Given the description of an element on the screen output the (x, y) to click on. 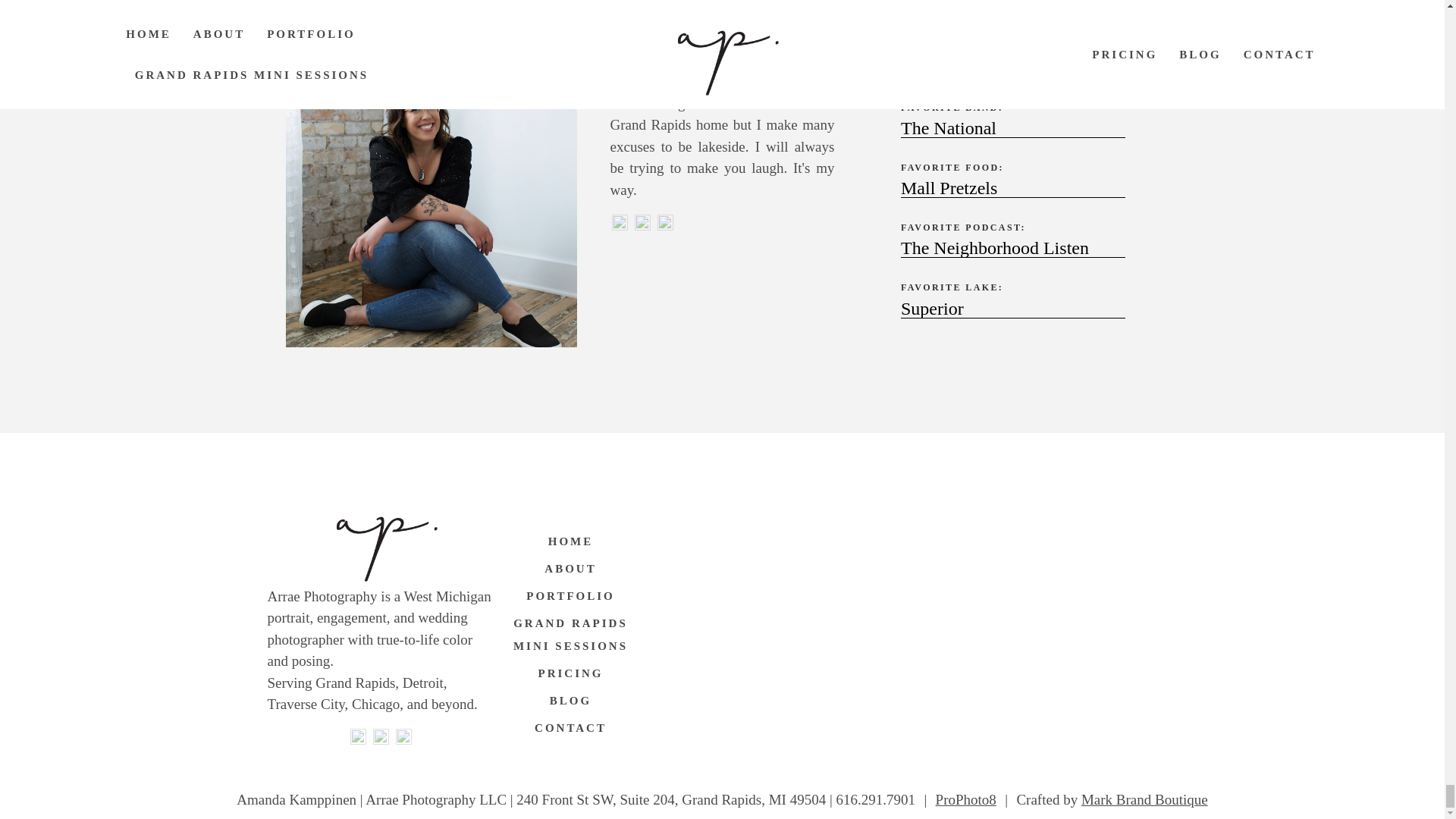
PRICING (570, 673)
P8 Photo Blog (965, 799)
ABOUT (570, 568)
Mark Brand Boutique (1144, 799)
BLOG (570, 700)
HOME (570, 541)
CONTACT (570, 728)
ProPhoto8 (965, 799)
GRAND RAPIDS MINI SESSIONS (570, 634)
PORTFOLIO (570, 595)
